Given the description of an element on the screen output the (x, y) to click on. 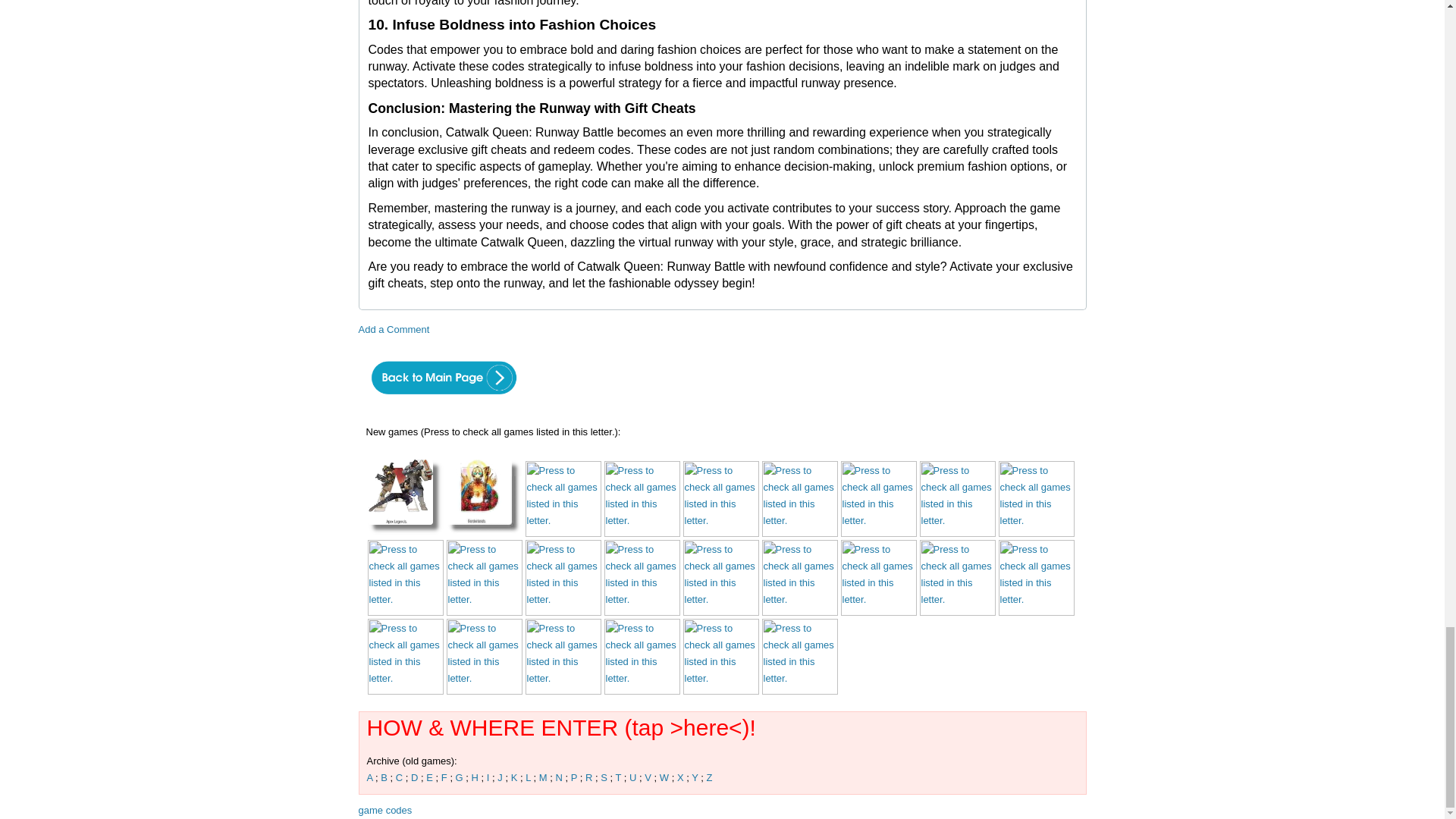
Gift codes (799, 532)
Press to check all games listed in this letter. (956, 499)
Gift codes (641, 532)
Gift codes (956, 532)
Press to check all games listed in this letter. (720, 499)
Add a Comment (393, 328)
Gift codes (877, 532)
Gift codes (404, 532)
Press to check all games listed in this letter. (404, 497)
Gift codes (720, 532)
